Given the description of an element on the screen output the (x, y) to click on. 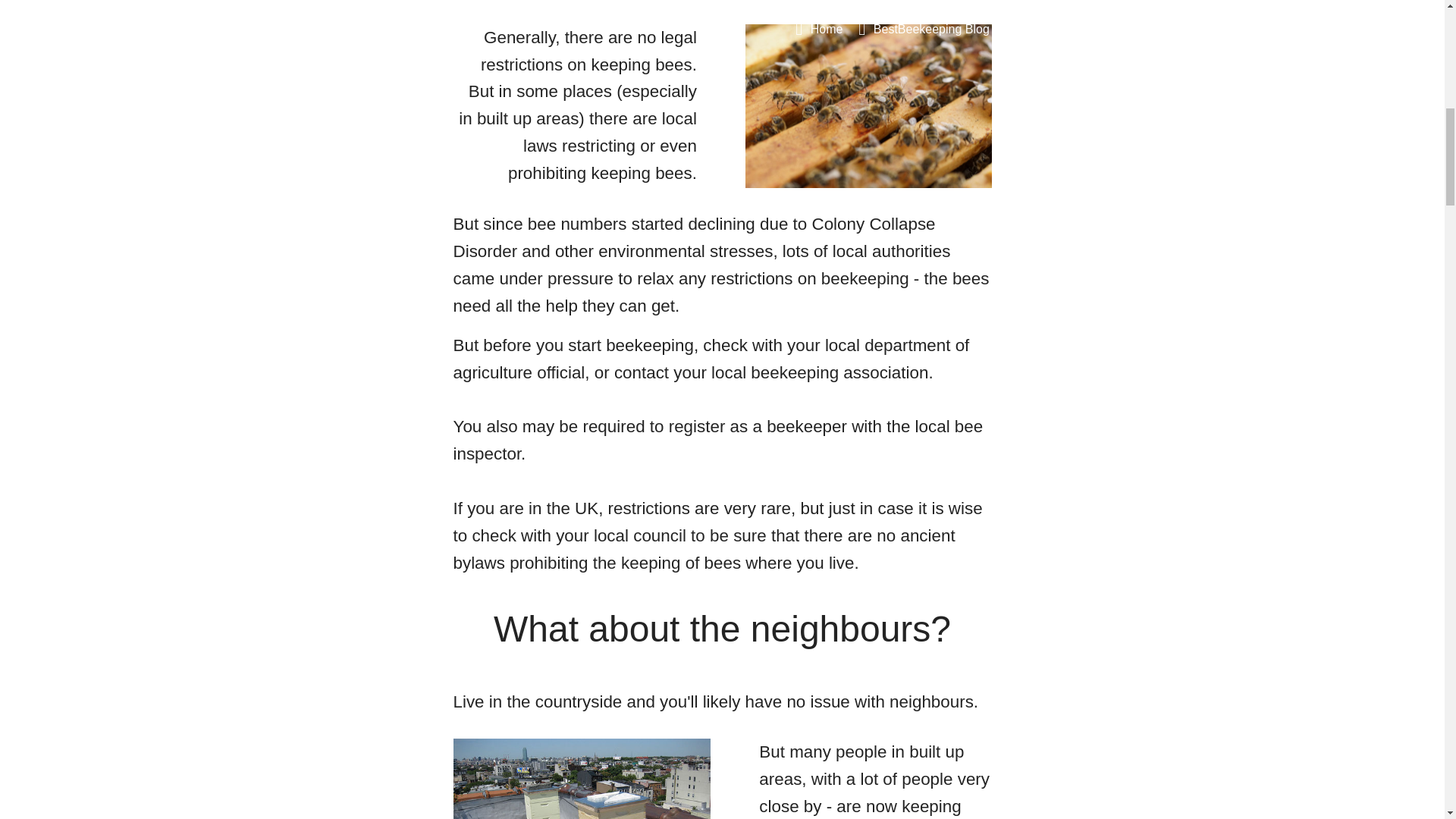
Urban beehives (581, 778)
Honey bees (868, 106)
